Given the description of an element on the screen output the (x, y) to click on. 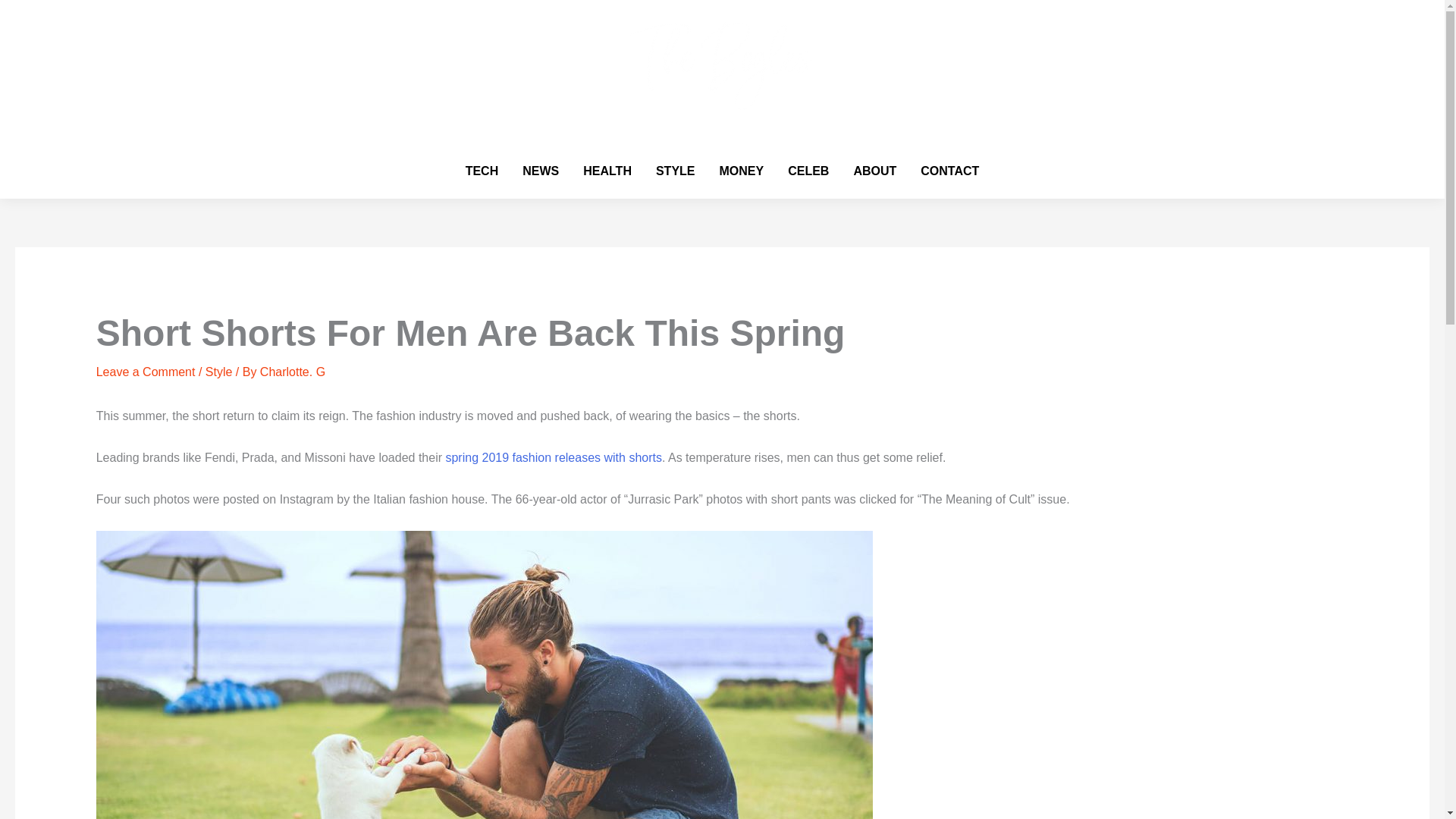
TECH (481, 171)
CELEB (808, 171)
ABOUT (874, 171)
Leave a Comment (145, 371)
NEWS (540, 171)
Charlotte. G (292, 371)
HEALTH (606, 171)
Style (218, 371)
spring 2019 fashion releases with shorts (553, 457)
STYLE (675, 171)
View all posts by Charlotte. G (292, 371)
MONEY (741, 171)
CONTACT (949, 171)
